Given the description of an element on the screen output the (x, y) to click on. 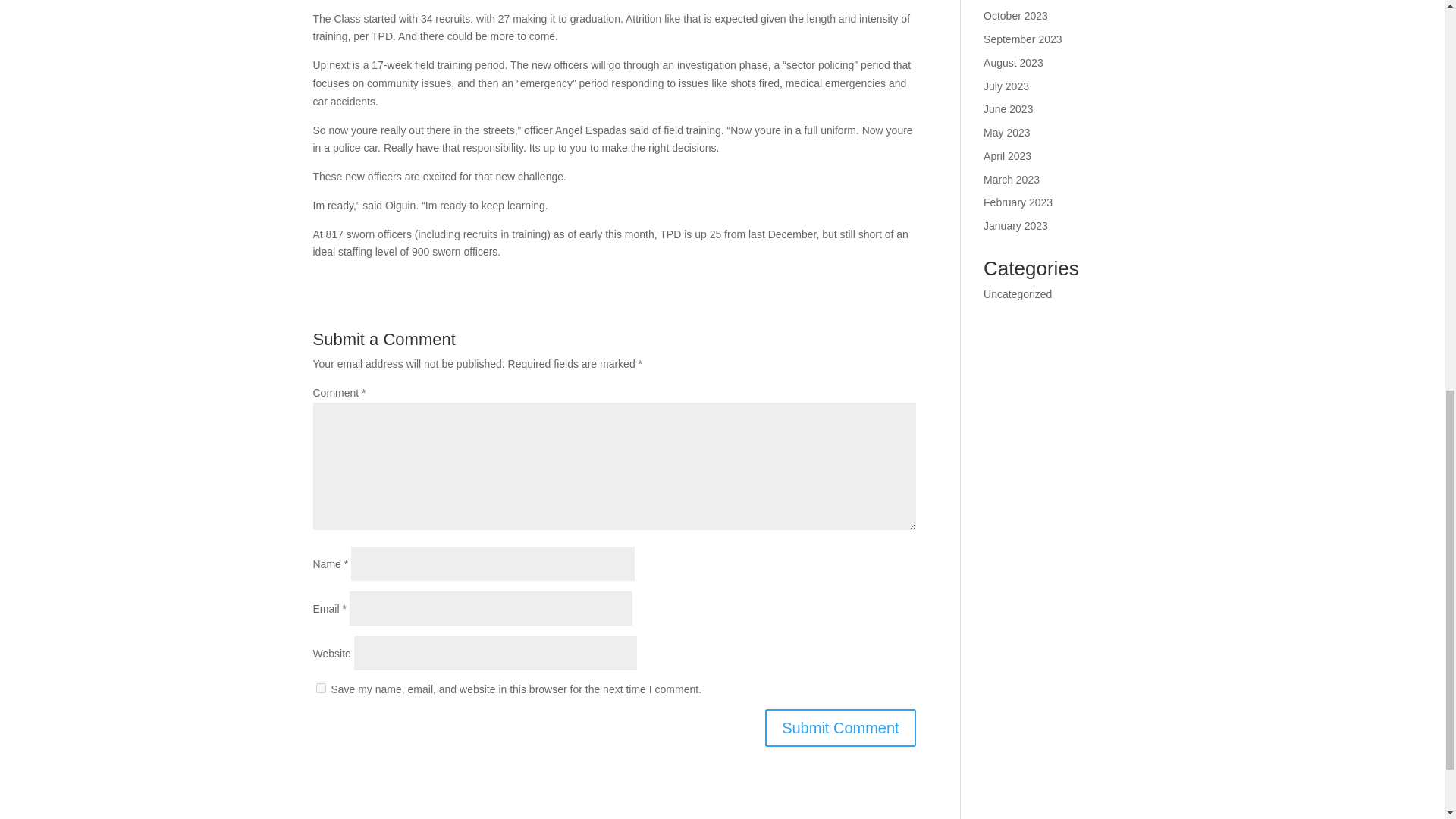
April 2023 (1007, 155)
Submit Comment (840, 727)
Uncategorized (1017, 294)
July 2023 (1006, 86)
March 2023 (1011, 179)
Submit Comment (840, 727)
May 2023 (1006, 132)
September 2023 (1023, 39)
February 2023 (1018, 202)
August 2023 (1013, 62)
